Given the description of an element on the screen output the (x, y) to click on. 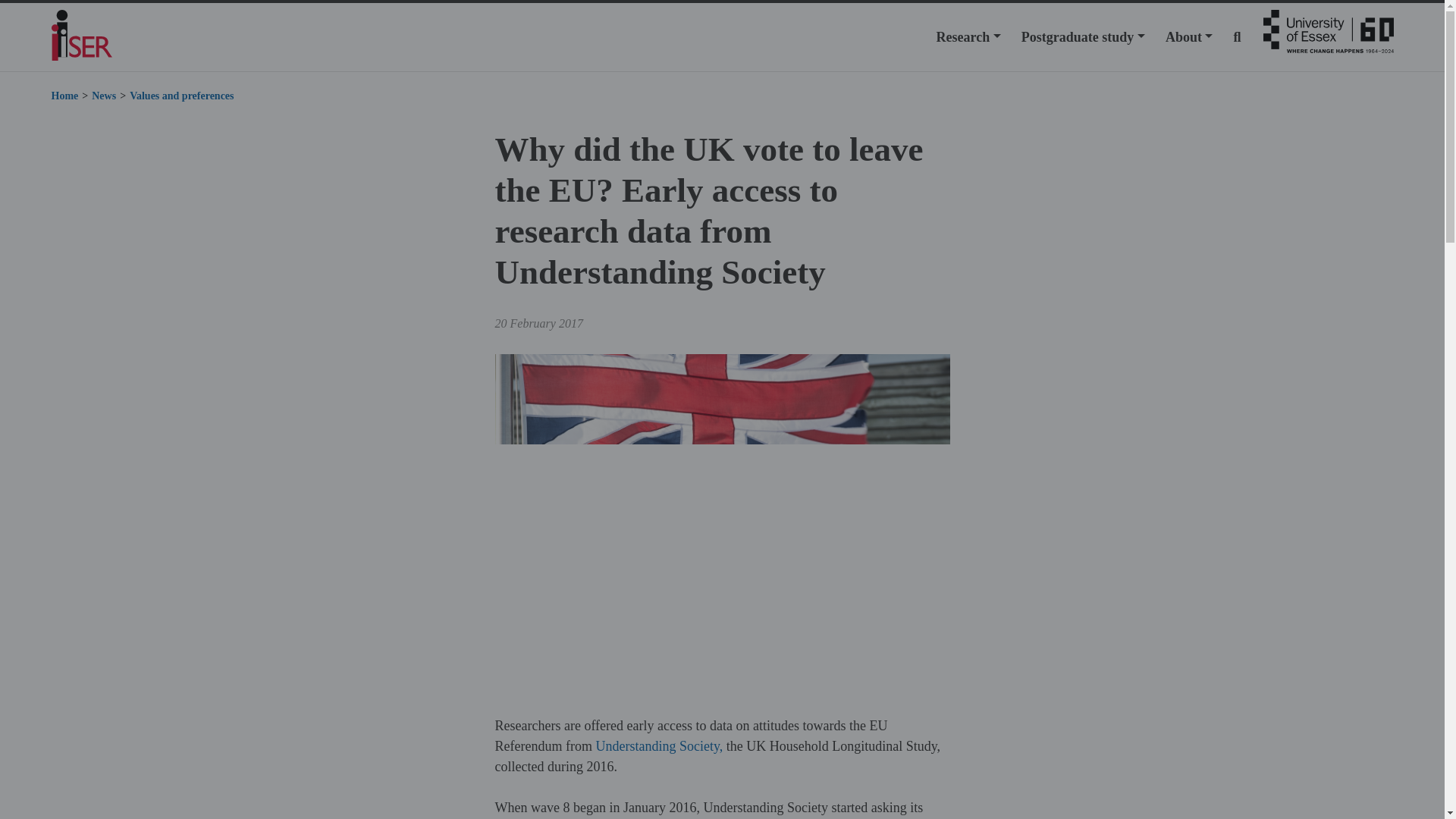
Research (968, 36)
University of Essex (1328, 36)
Understanding Society, (658, 745)
Postgraduate study (1082, 36)
Research (968, 36)
Values and preferences (180, 95)
News (103, 95)
Postgraduate study (1082, 36)
Home (64, 95)
About (1189, 36)
